Given the description of an element on the screen output the (x, y) to click on. 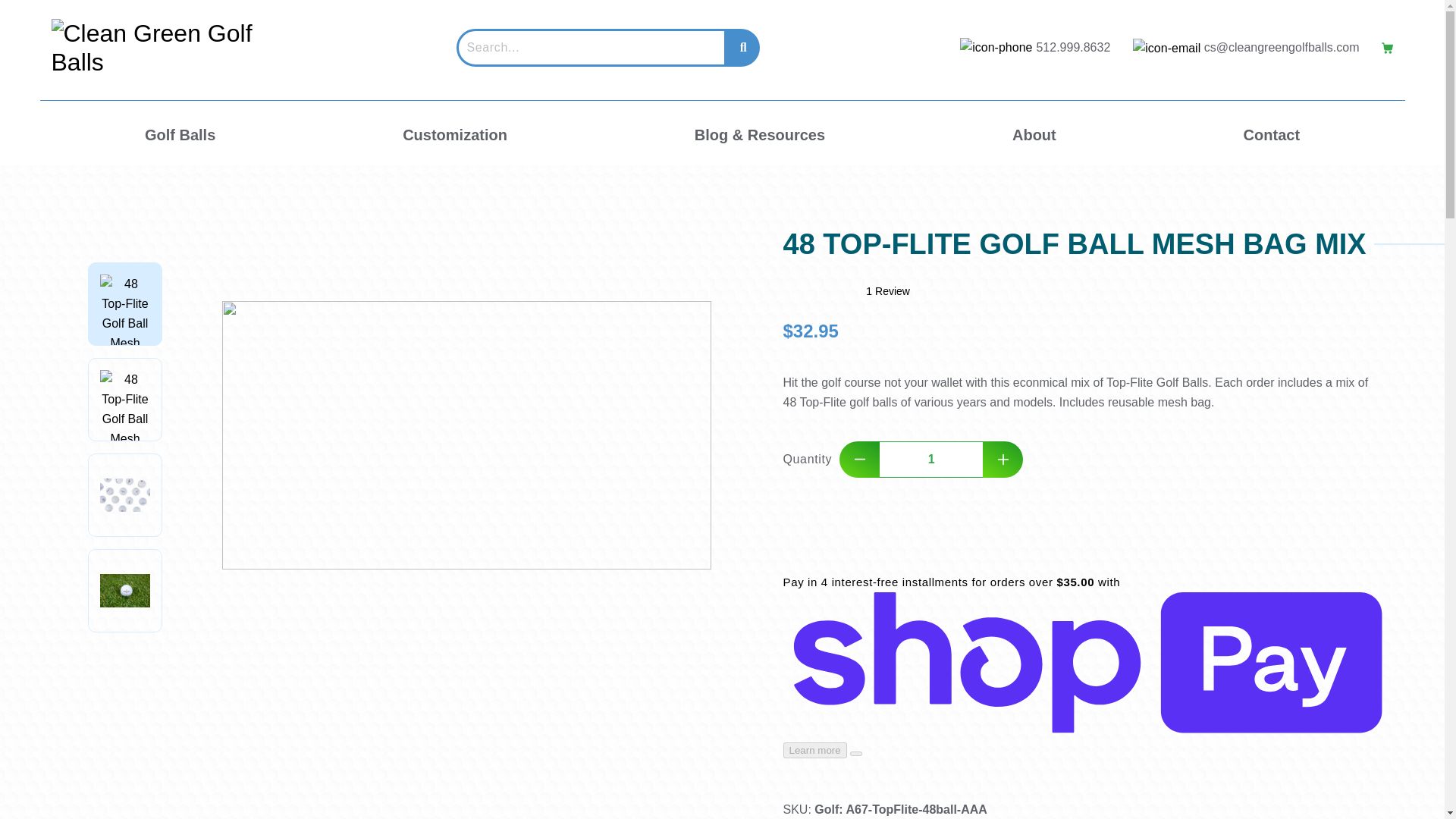
512.999.8632 (1072, 47)
Golf Balls (179, 134)
1 (930, 459)
Customization (454, 134)
Contact (1271, 134)
About (1034, 134)
